Given the description of an element on the screen output the (x, y) to click on. 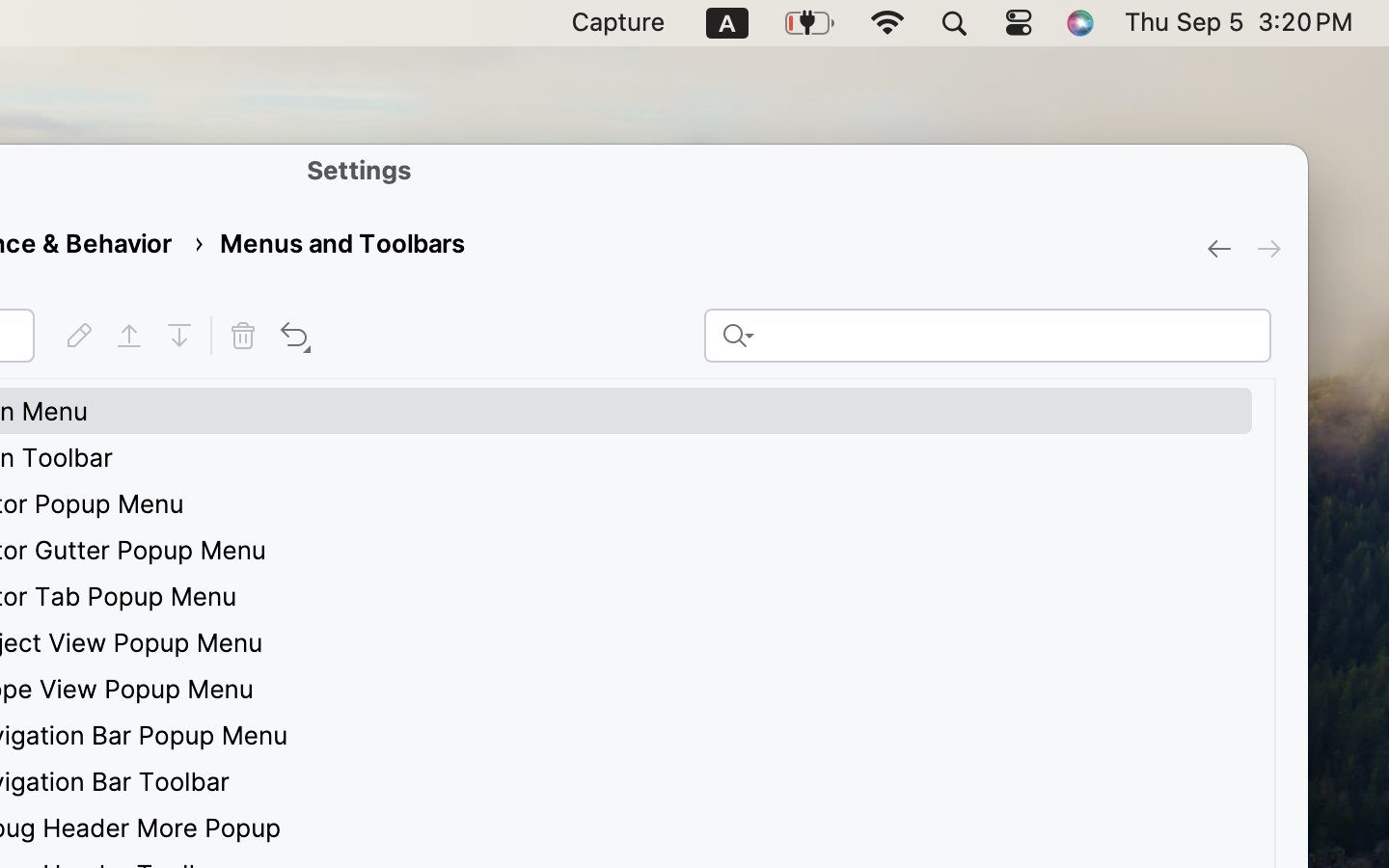
Settings Element type: AXStaticText (359, 169)
